Given the description of an element on the screen output the (x, y) to click on. 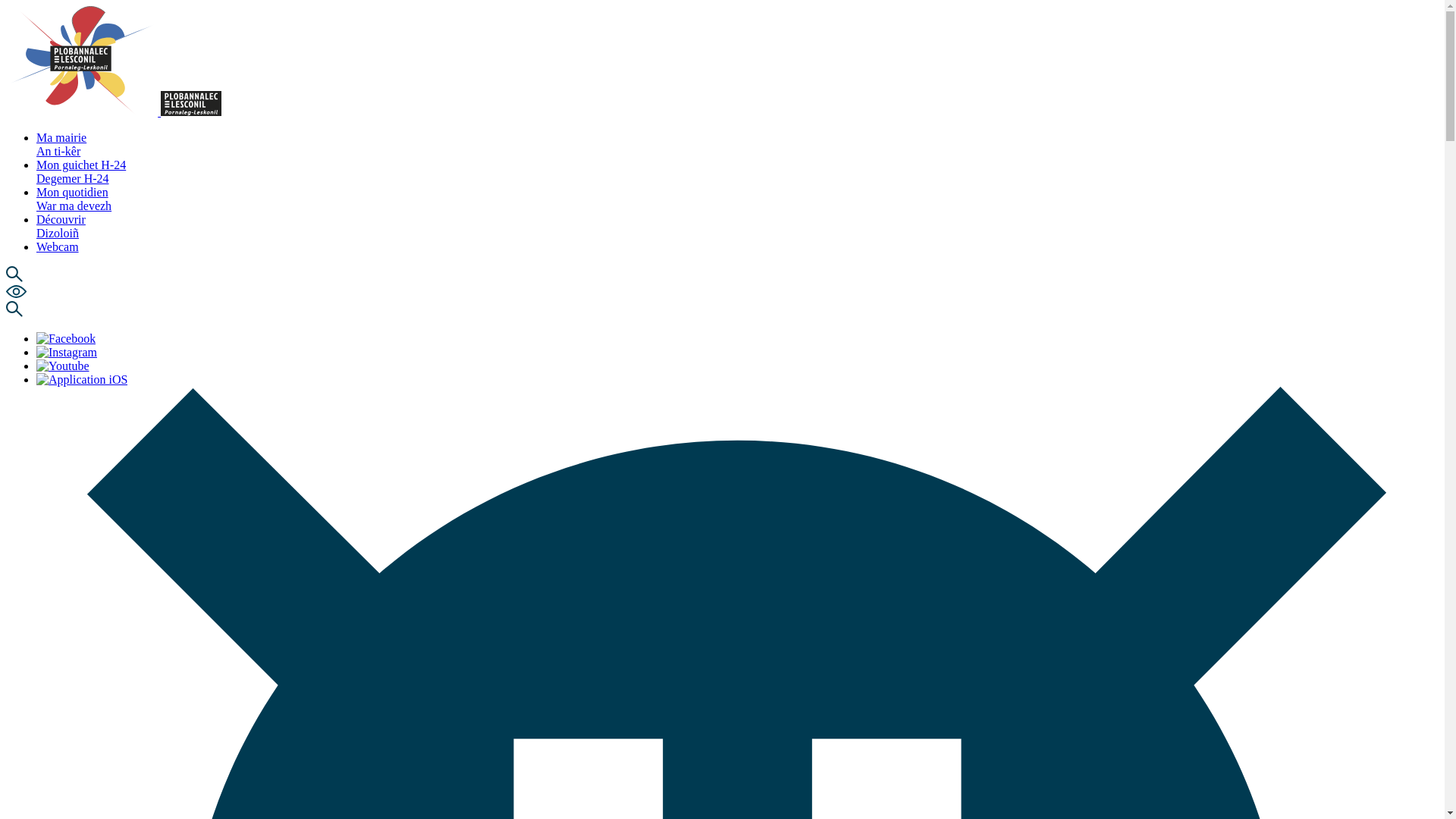
Webcam Element type: text (57, 246)
Mon quotidien
War ma devezh Element type: text (73, 198)
Mon guichet H-24
Degemer H-24 Element type: text (80, 171)
